Given the description of an element on the screen output the (x, y) to click on. 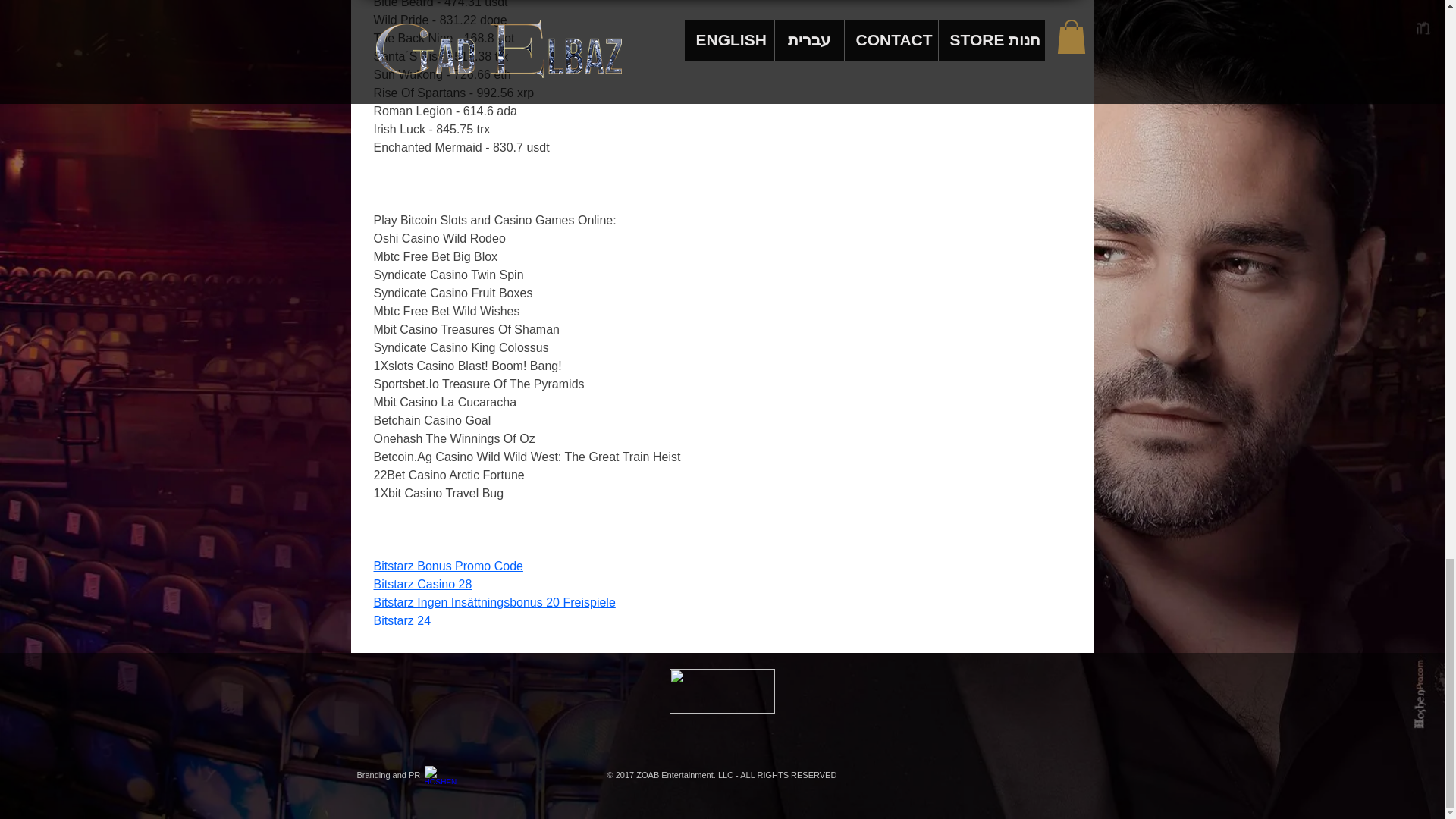
Bitstarz Casino 28 (421, 584)
Bitstarz 24 (401, 620)
Branding and PR (388, 774)
Bitstarz Bonus Promo Code (447, 565)
Twitter Follow (410, 687)
